Given the description of an element on the screen output the (x, y) to click on. 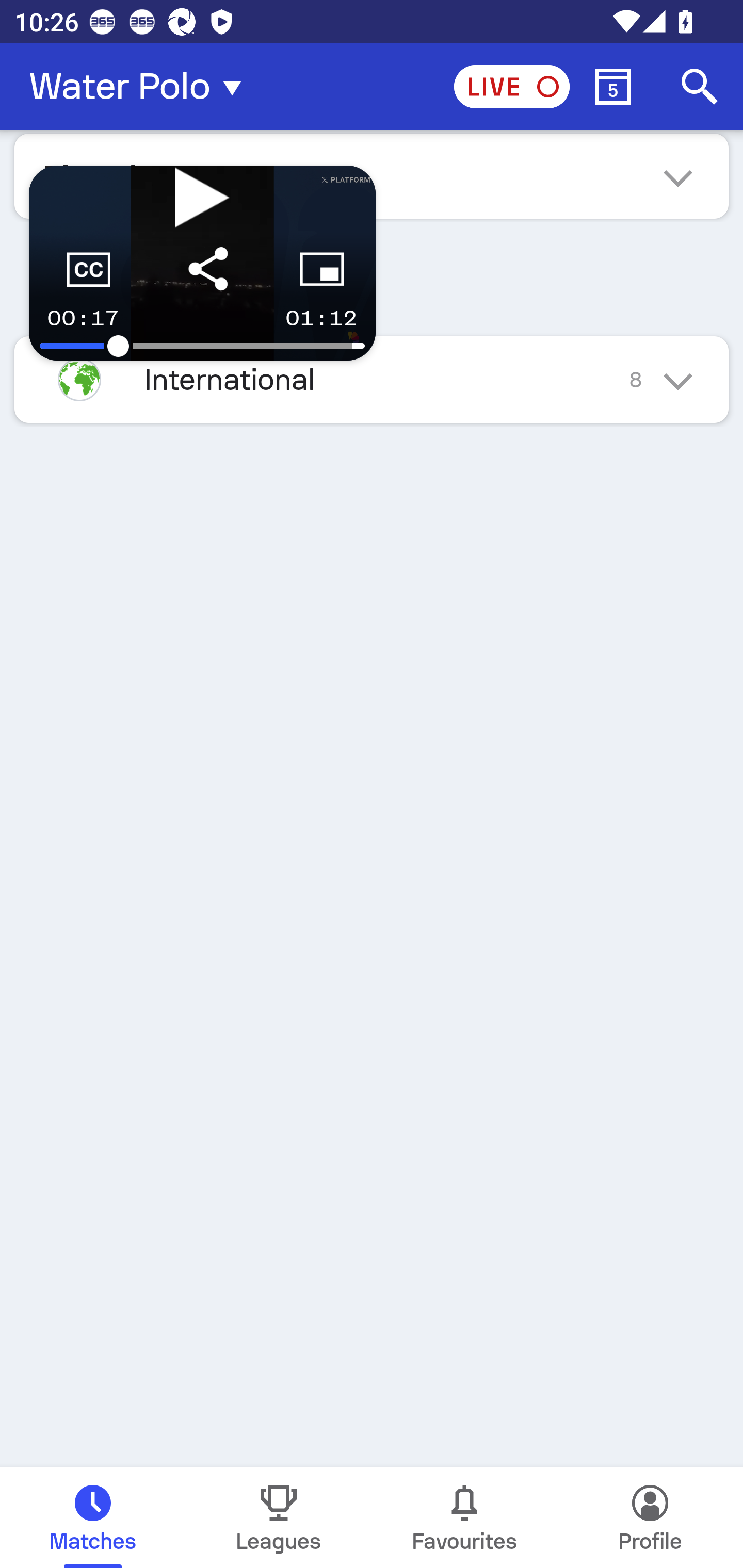
Water Polo (140, 86)
Calendar (612, 86)
Search (699, 86)
International 8 (371, 379)
Leagues (278, 1517)
Favourites (464, 1517)
Profile (650, 1517)
